Given the description of an element on the screen output the (x, y) to click on. 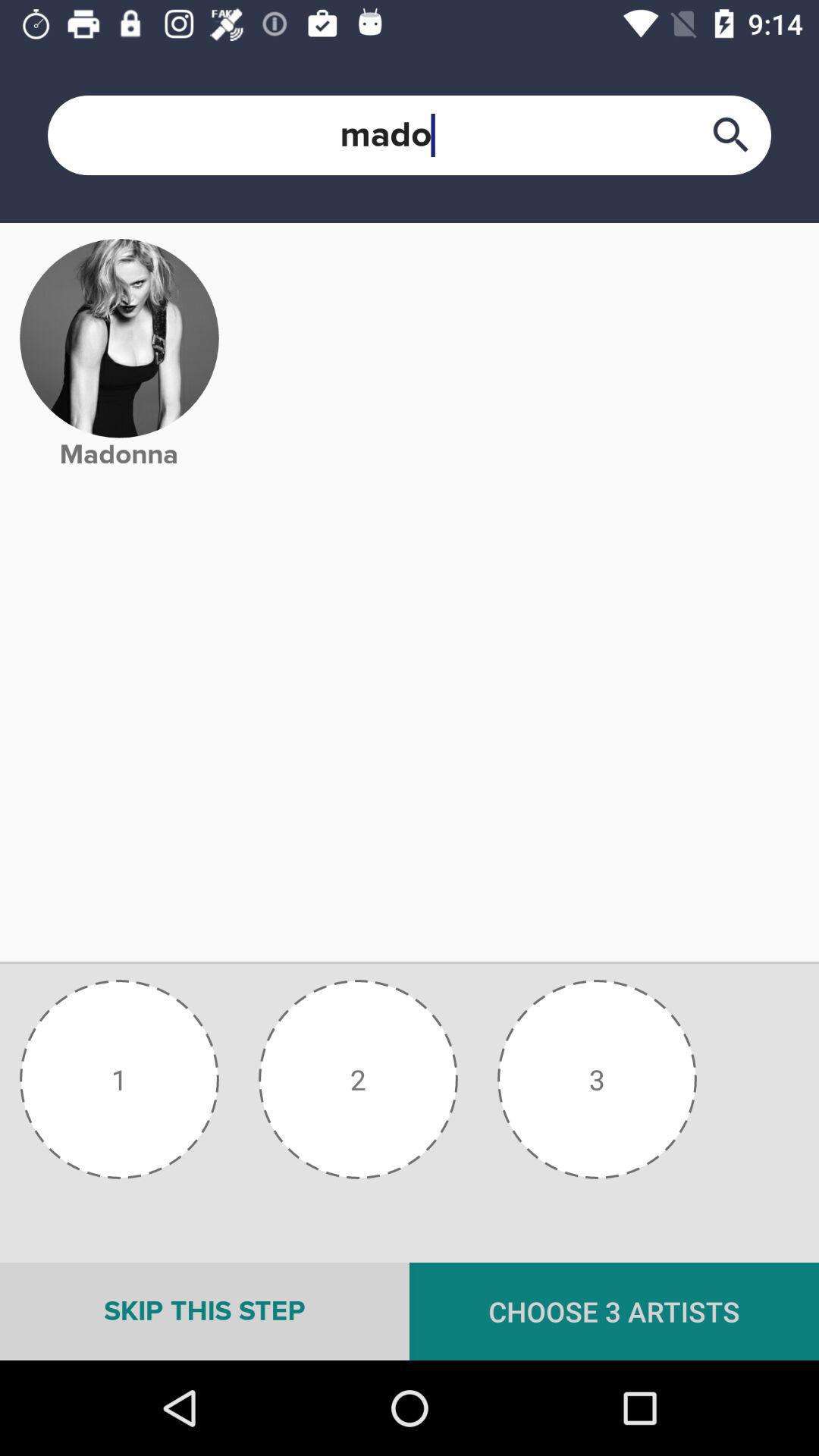
jump to the mado icon (409, 135)
